Given the description of an element on the screen output the (x, y) to click on. 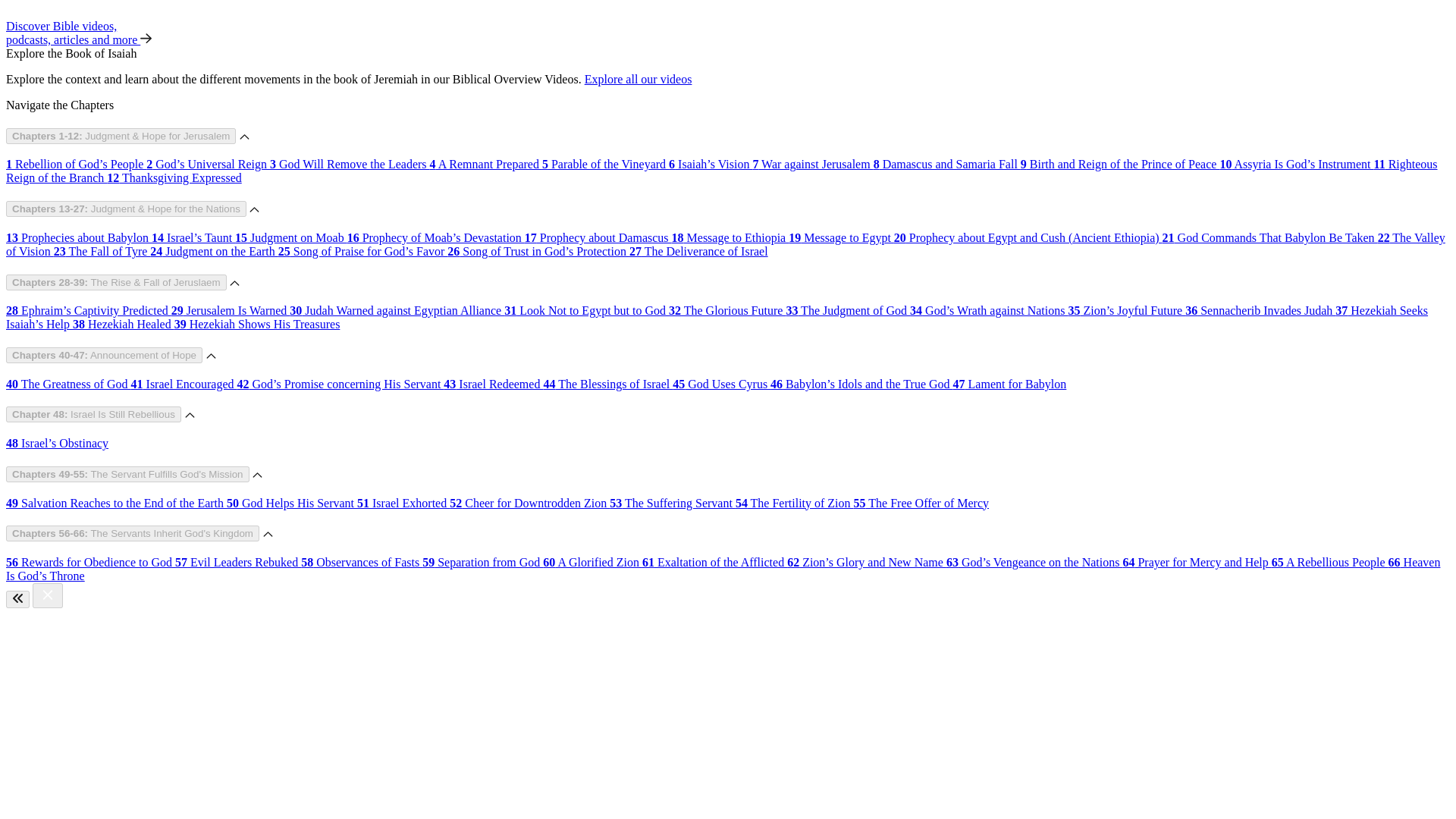
5 Parable of the Vineyard (604, 164)
29 Jerusalem Is Warned (230, 309)
30 Judah Warned against Egyptian Alliance (396, 309)
7 War against Jerusalem (812, 164)
13 Prophecies about Babylon (78, 237)
3 God Will Remove the Leaders (349, 164)
8 Damascus and Samaria Fall (946, 164)
17 Prophecy about Damascus (597, 237)
15 Judgment on Moab (290, 237)
23 The Fall of Tyre (102, 250)
32 The Glorious Future (727, 309)
27 The Deliverance of Israel (698, 250)
18 Message to Ethiopia (730, 237)
12 Thanksgiving Expressed (173, 177)
24 Judgment on the Earth (213, 250)
